Given the description of an element on the screen output the (x, y) to click on. 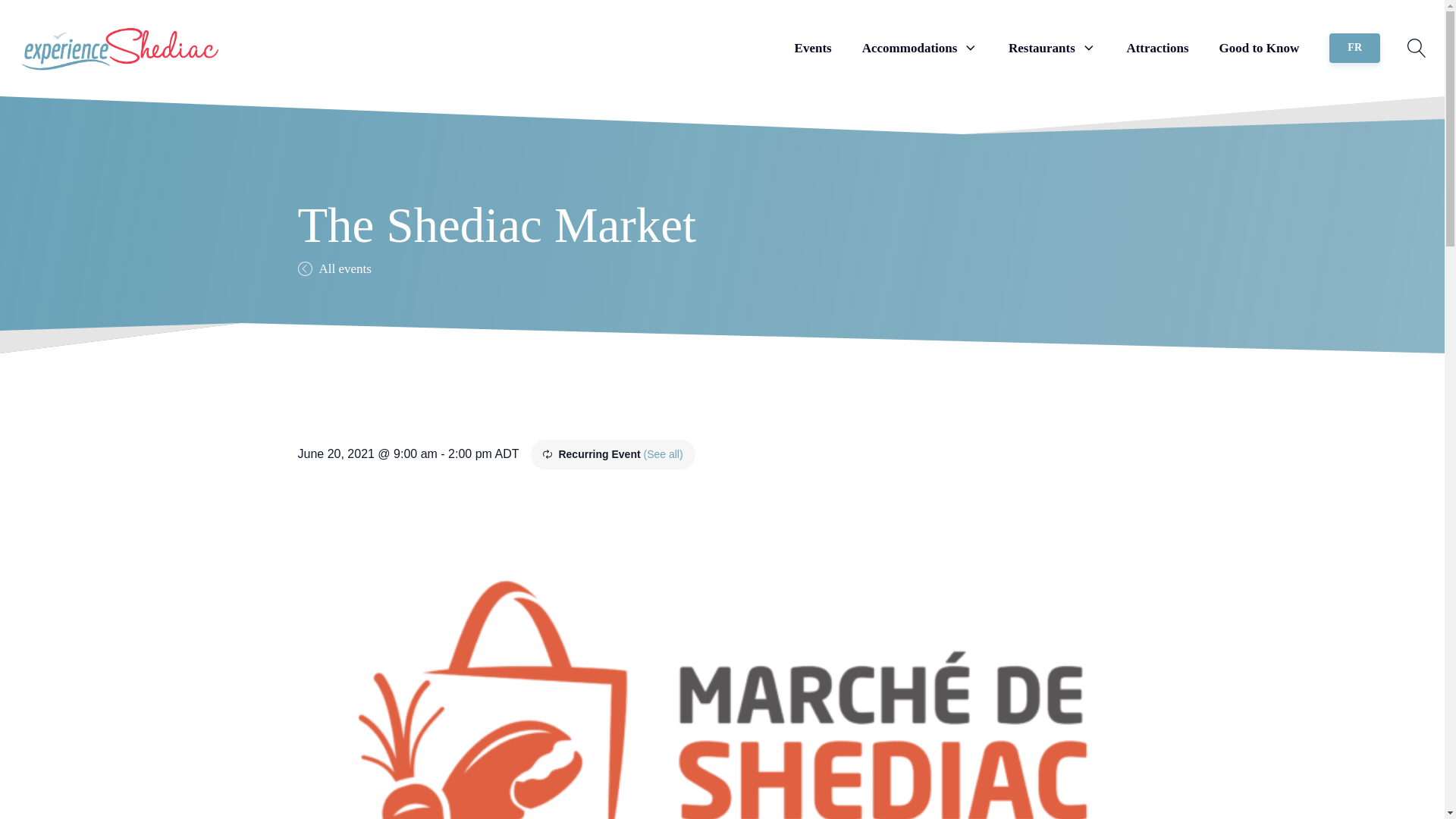
All events (334, 268)
Restaurants (1052, 47)
Accommodations (919, 47)
Good to Know (1260, 47)
Attractions (1156, 47)
